Given the description of an element on the screen output the (x, y) to click on. 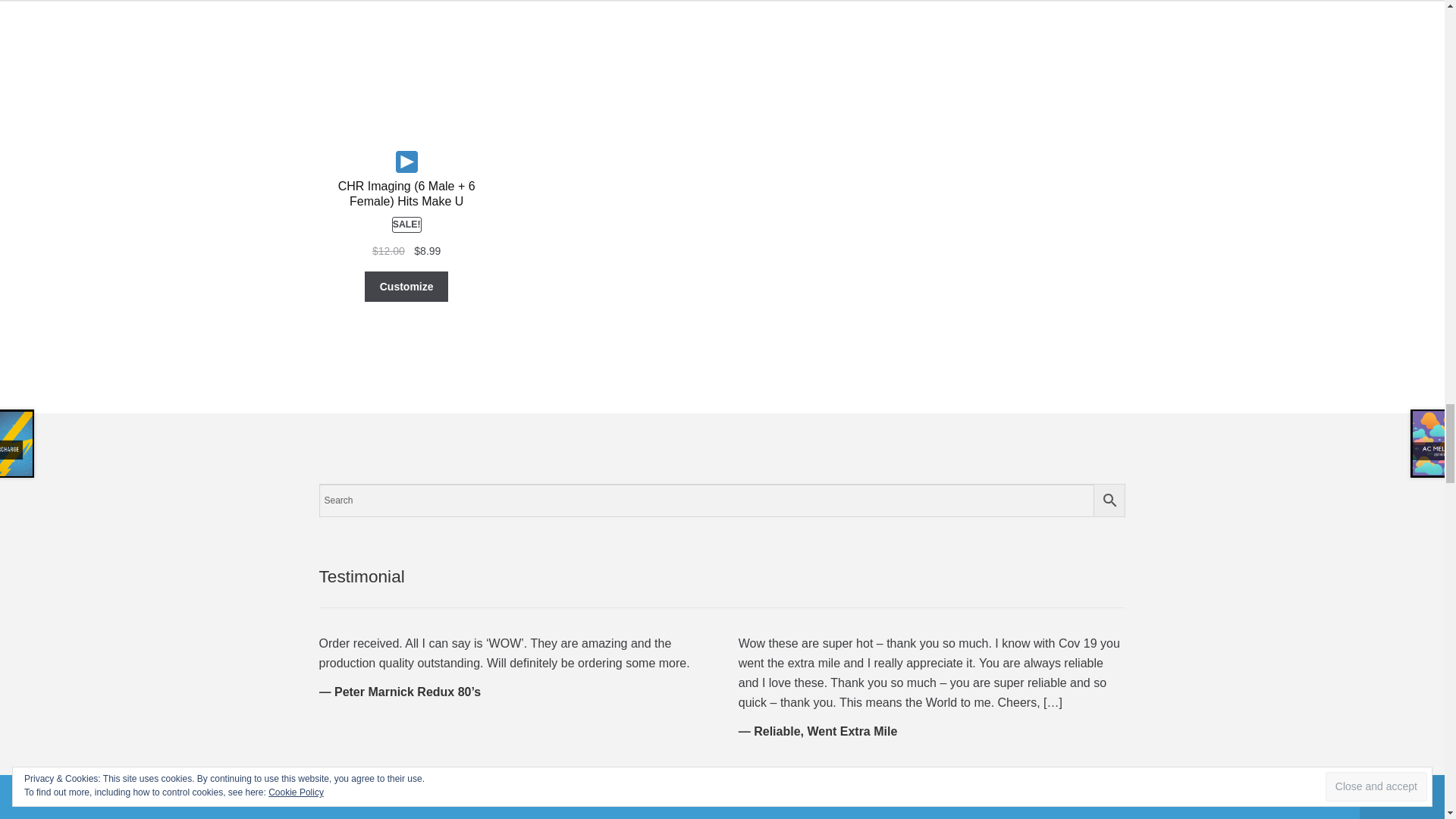
Reliable, Went Extra Mile (825, 730)
